Given the description of an element on the screen output the (x, y) to click on. 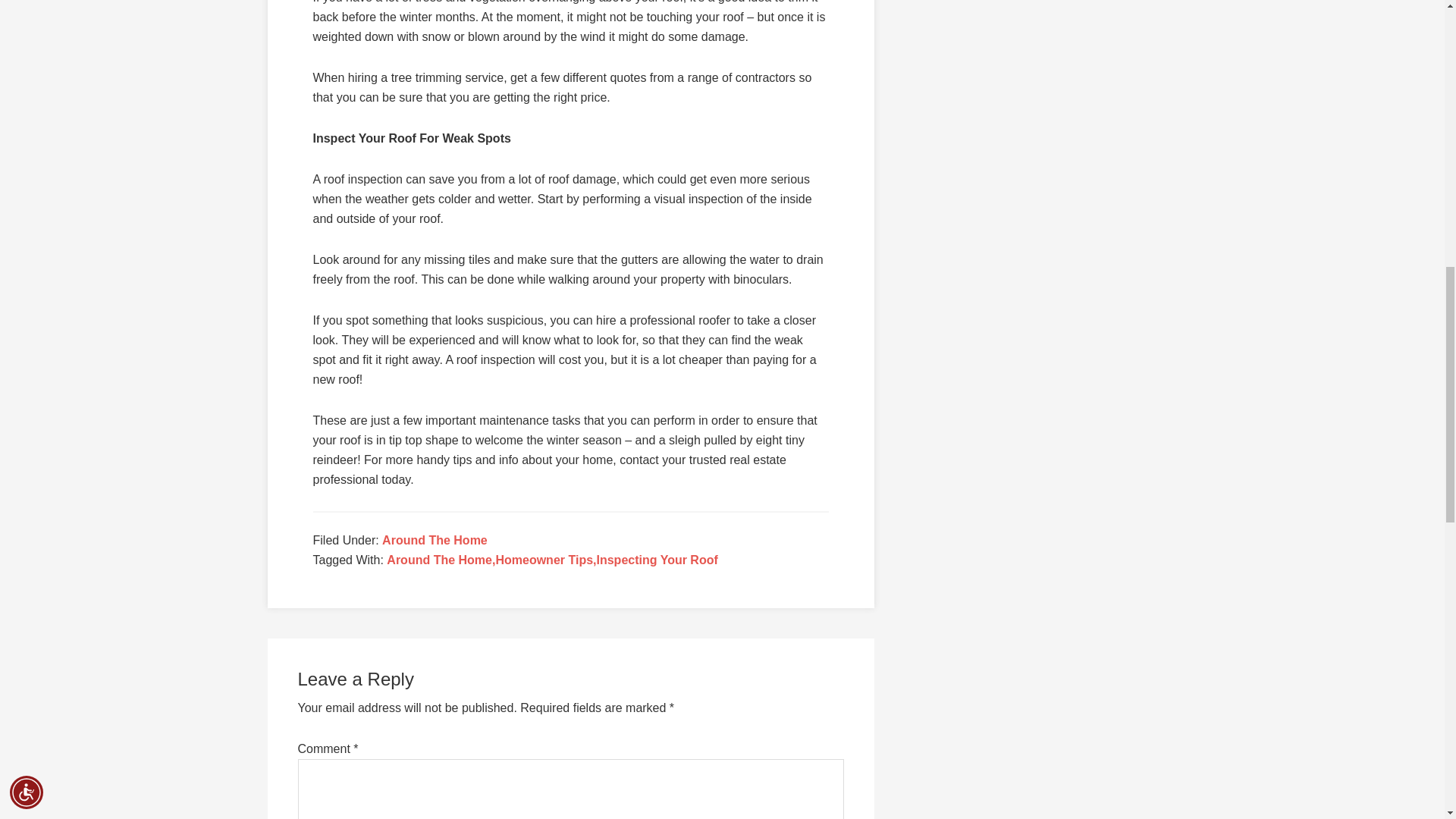
Around The Home (434, 540)
Around The Home,Homeowner Tips,Inspecting Your Roof (552, 559)
